Given the description of an element on the screen output the (x, y) to click on. 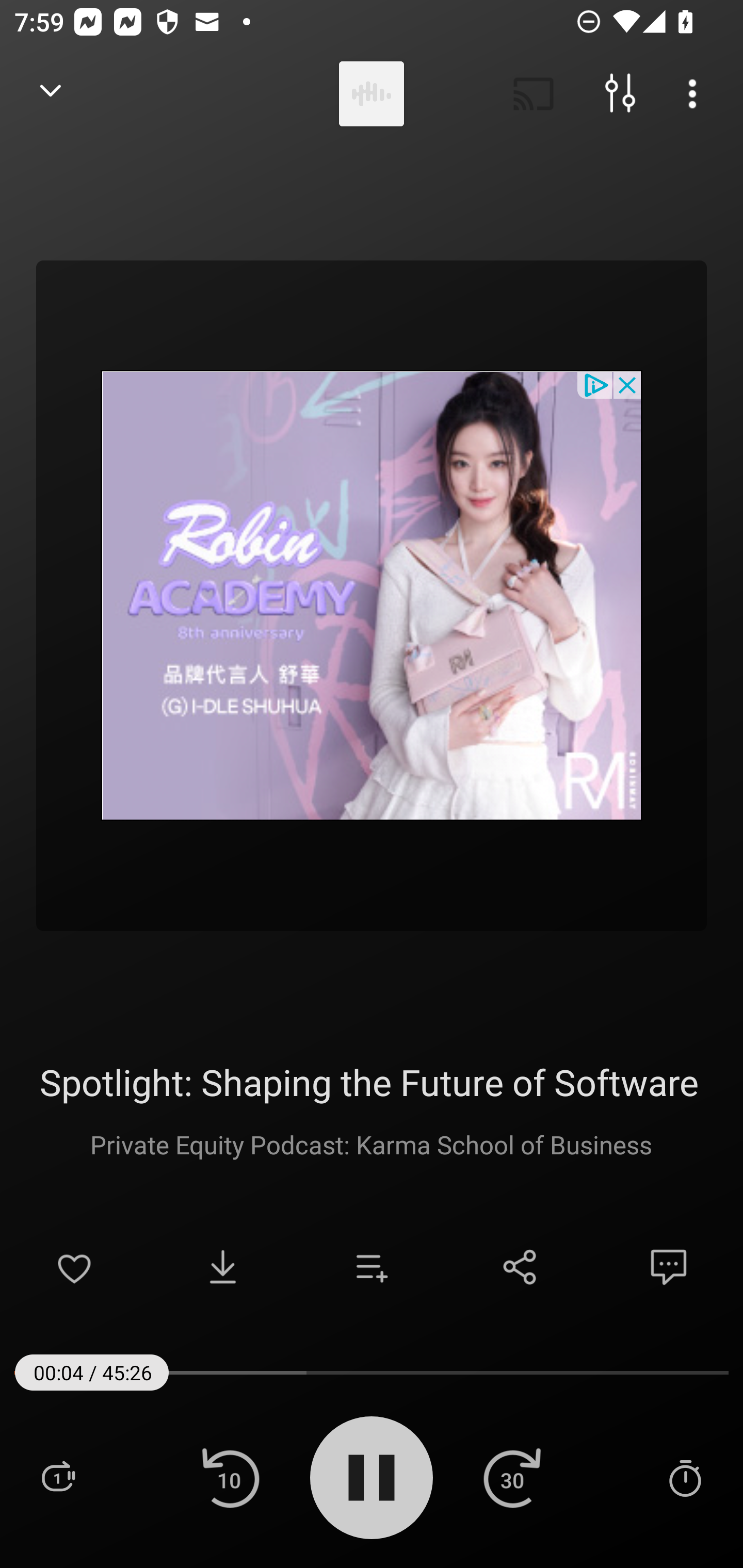
Cast. Disconnected (533, 93)
 Back (50, 94)
Private Equity Podcast: Karma School of Business (371, 1144)
Comments (668, 1266)
Add to Favorites (73, 1266)
Add to playlist (371, 1266)
Share (519, 1266)
 Playlist (57, 1477)
Sleep Timer  (684, 1477)
